Given the description of an element on the screen output the (x, y) to click on. 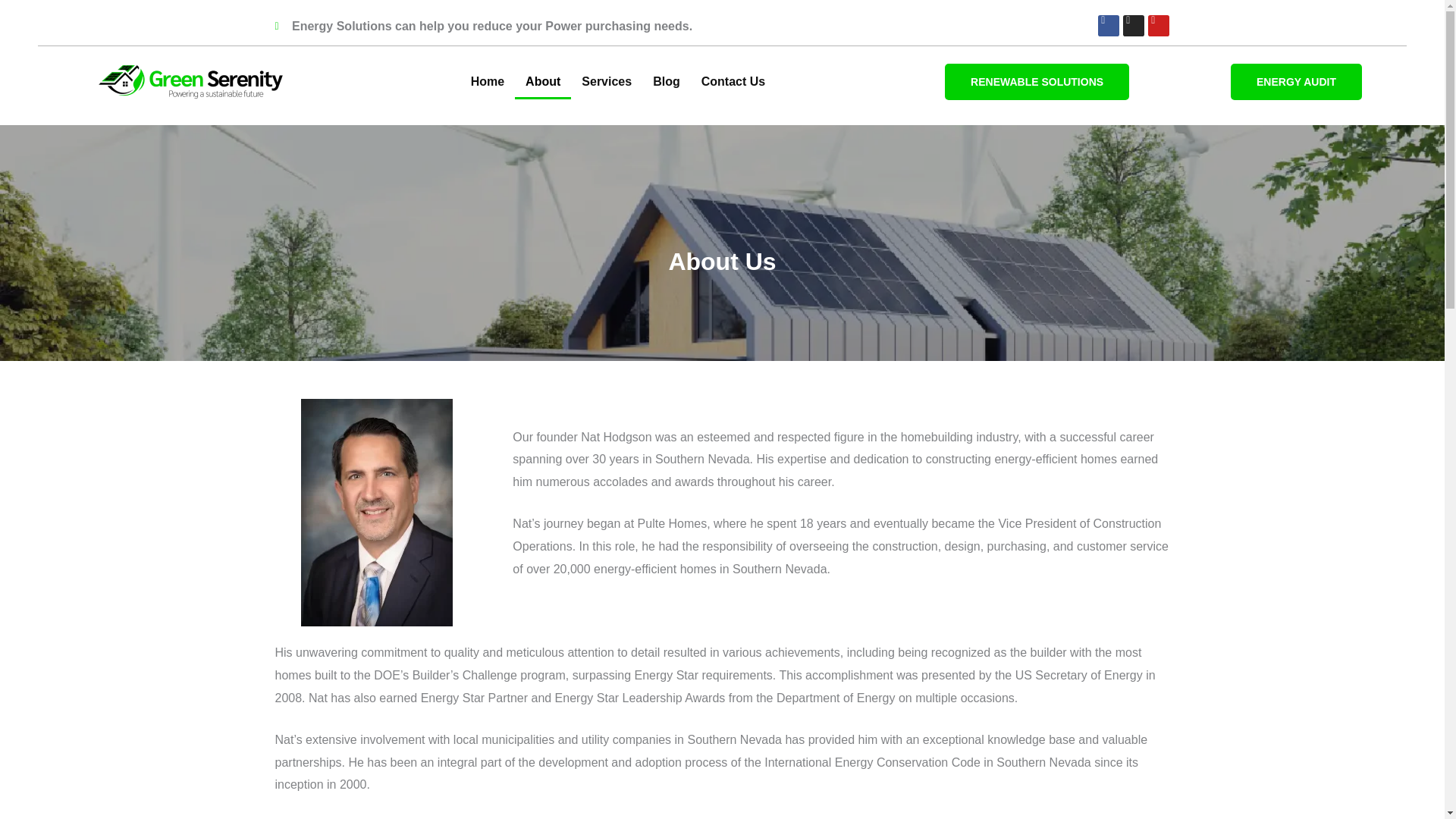
ENERGY AUDIT (1295, 81)
Home (487, 81)
About (542, 81)
Contact Us (733, 81)
RENEWABLE SOLUTIONS (1036, 81)
Services (606, 81)
Blog (666, 81)
